Given the description of an element on the screen output the (x, y) to click on. 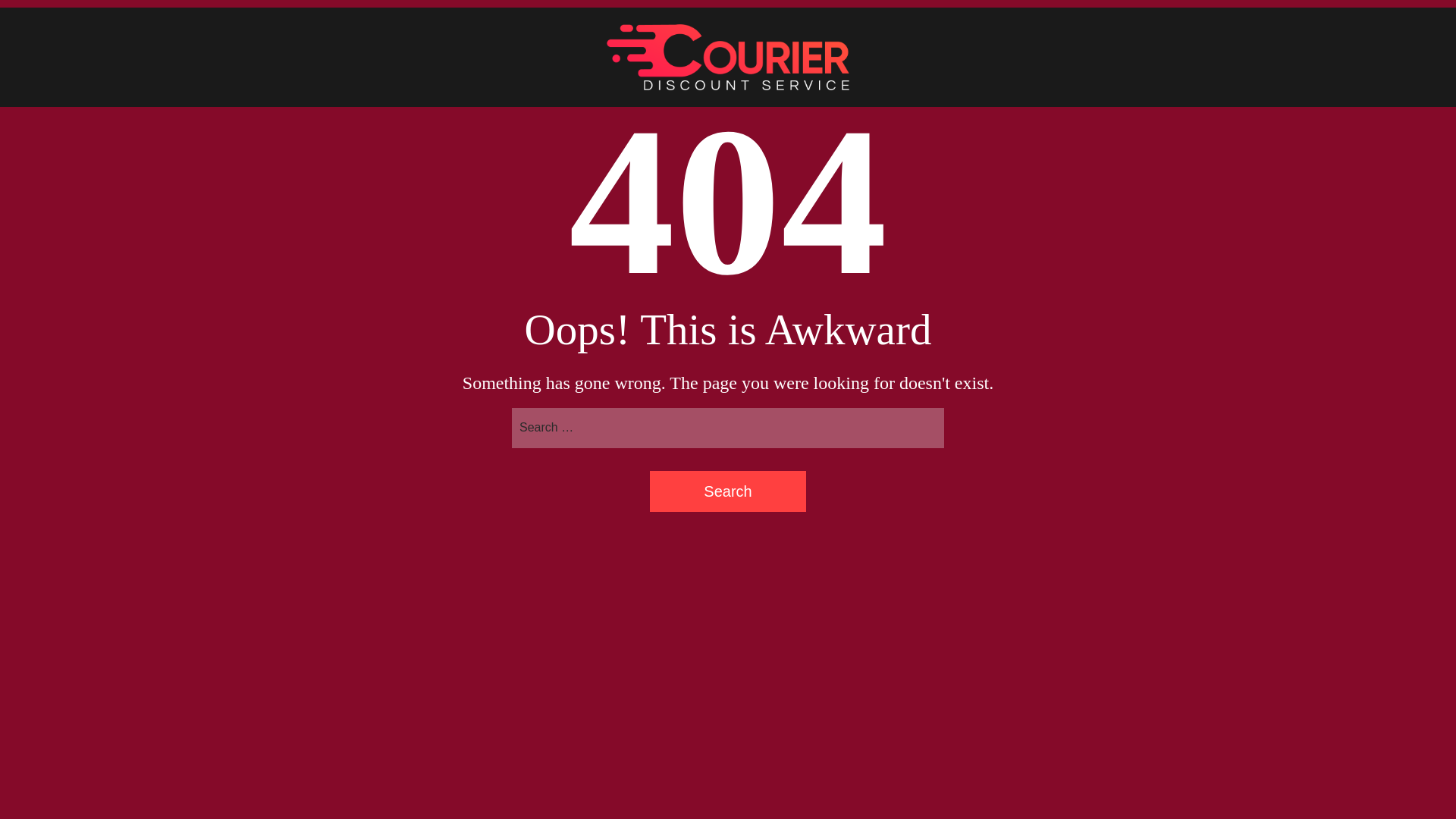
Search (727, 490)
Search (727, 490)
Search (727, 490)
